Given the description of an element on the screen output the (x, y) to click on. 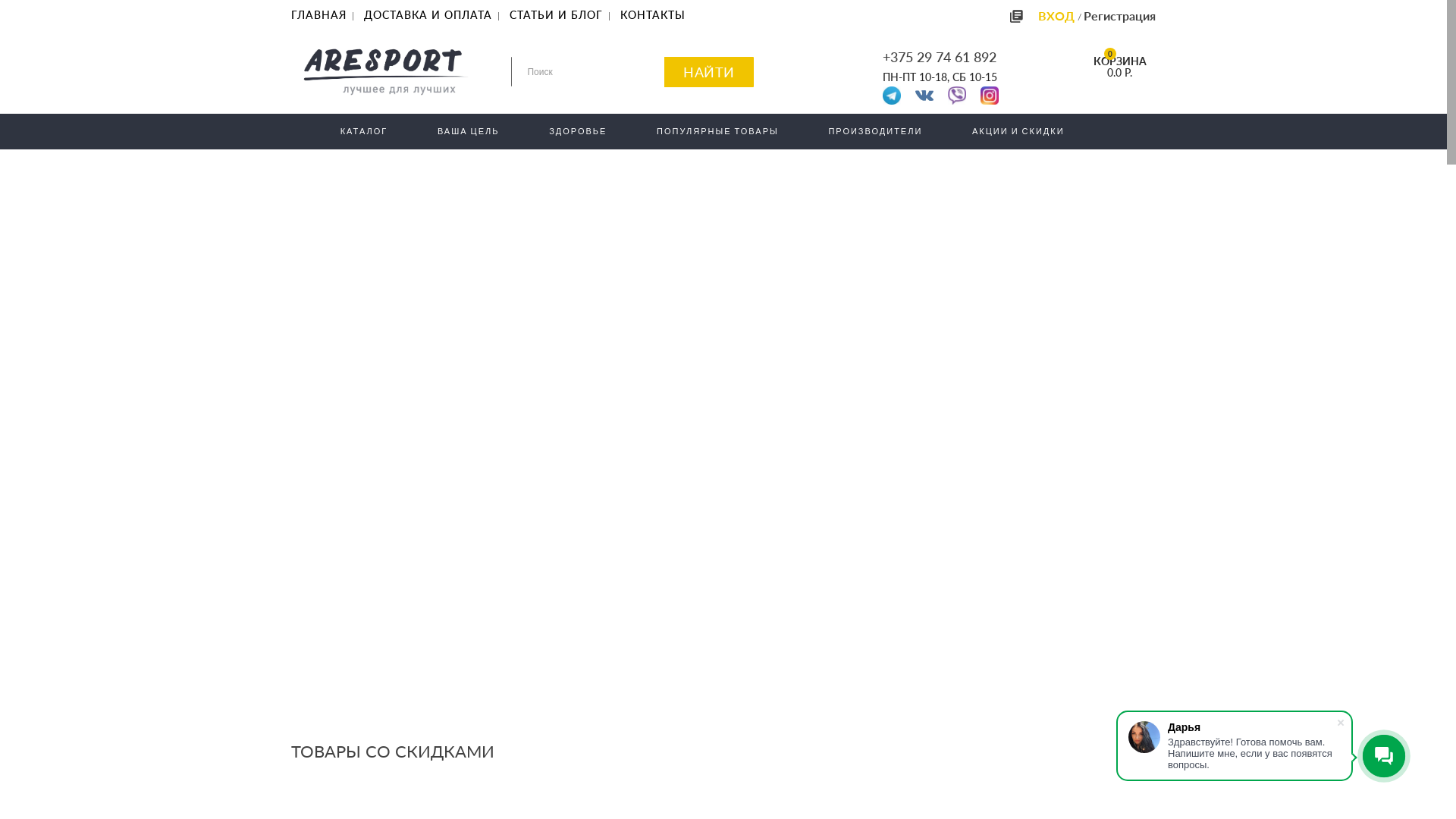
+375 29 74 61 892 Element type: text (939, 56)
Aresport.by Element type: hover (385, 71)
